Given the description of an element on the screen output the (x, y) to click on. 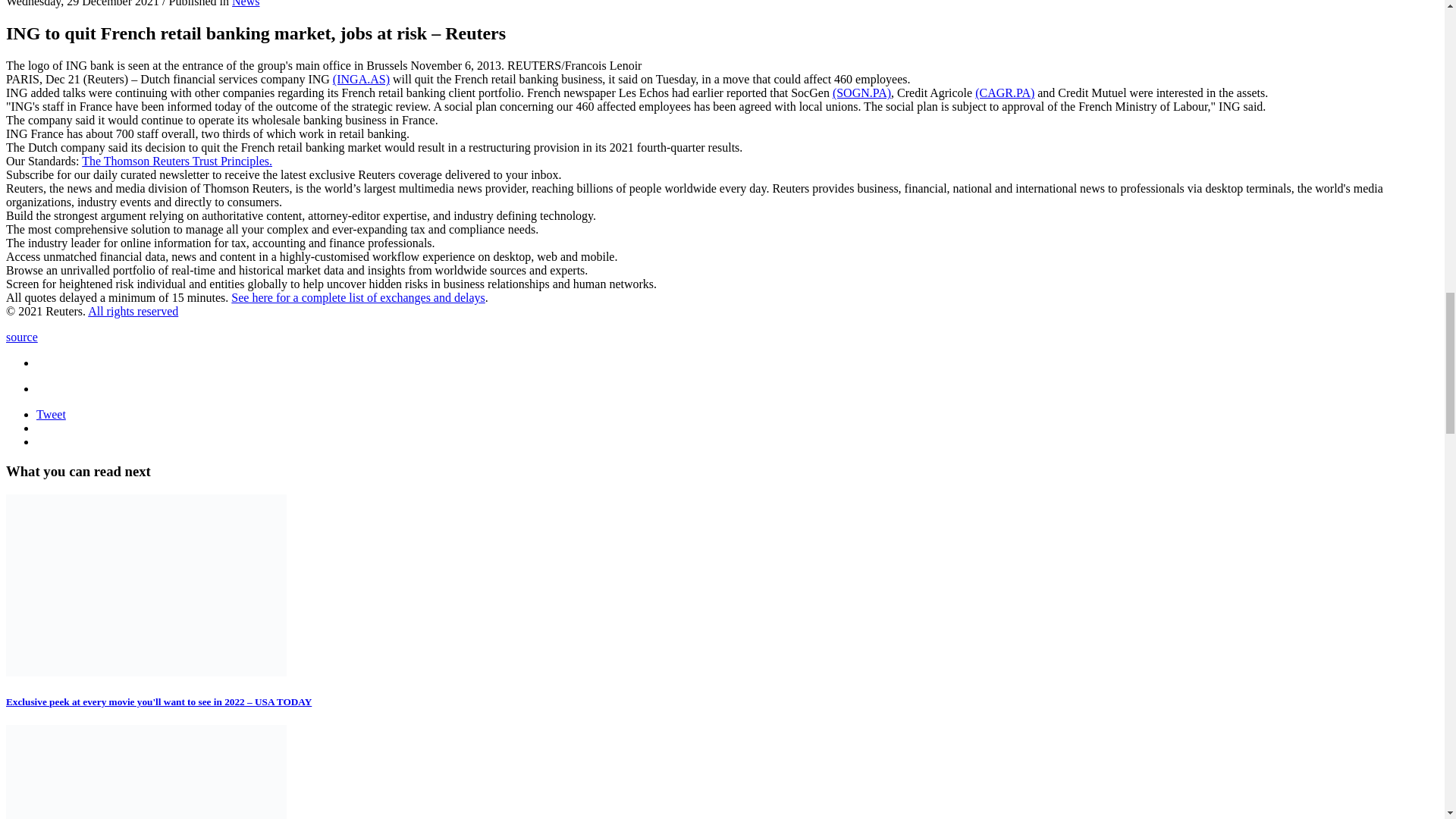
News (245, 3)
